Given the description of an element on the screen output the (x, y) to click on. 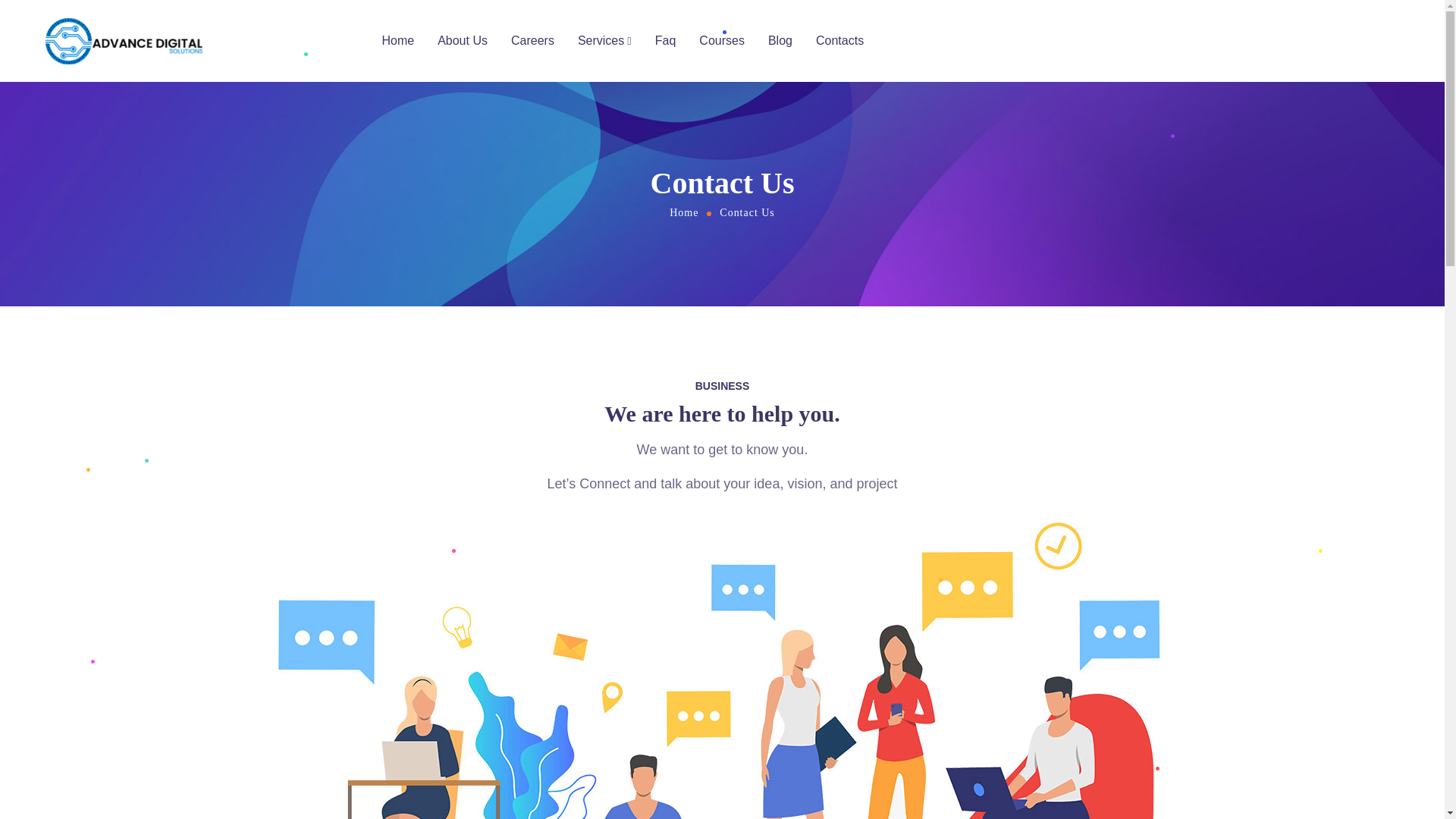
ads-logo (123, 41)
